Given the description of an element on the screen output the (x, y) to click on. 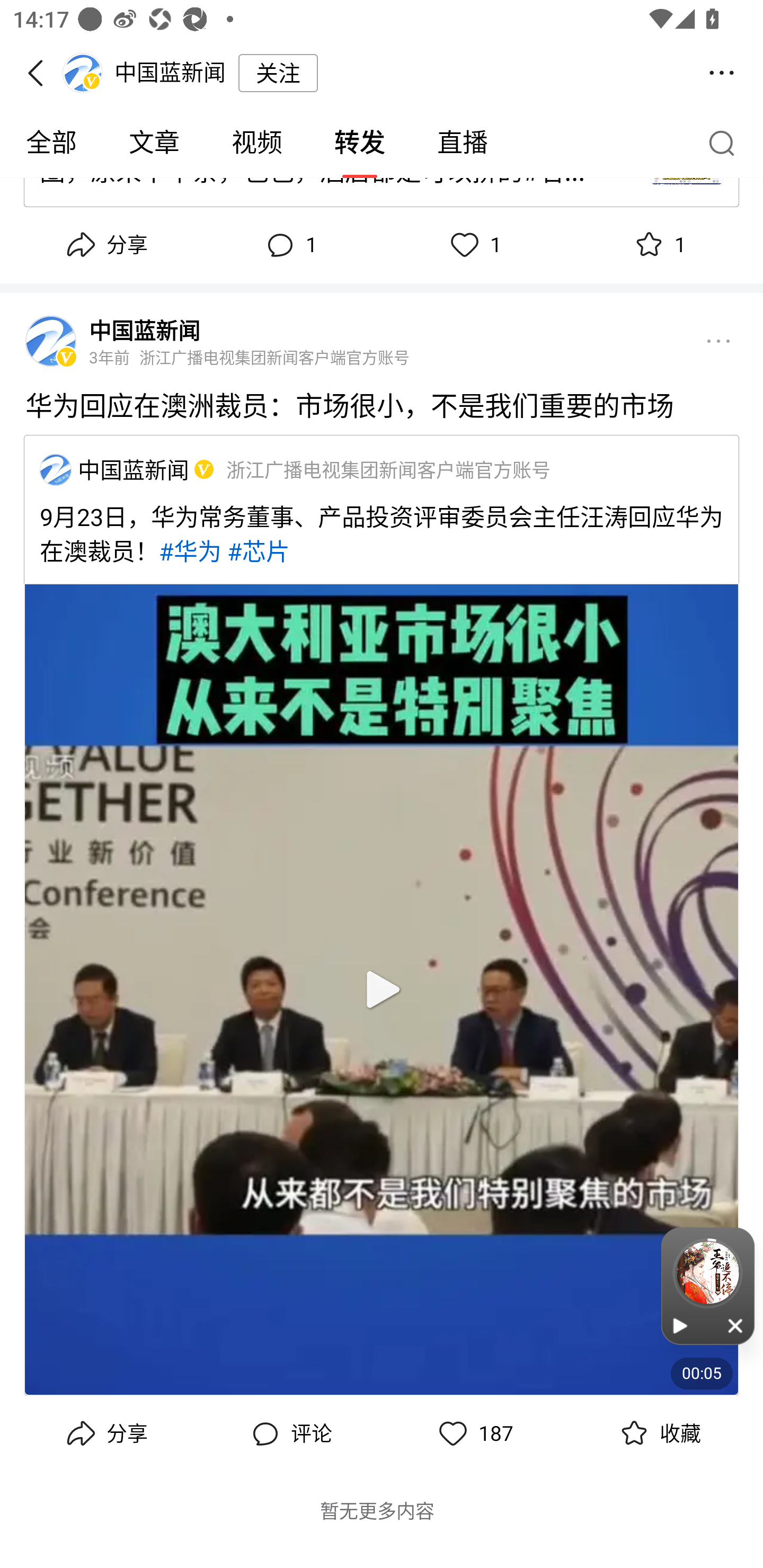
返回 (41, 72)
更多操作 (721, 72)
关注 (278, 72)
全部 (51, 143)
文章 (154, 143)
视频 (256, 143)
转发 (359, 143)
直播 (462, 143)
搜索 (726, 142)
分享 (104, 244)
评论,1 1 (288, 244)
收藏,1 1 (658, 244)
头像 中国蓝新闻 3年前 浙江广播电视集团新闻客户端官方账号 更多 (381, 335)
中国蓝新闻 (144, 329)
头像 (50, 340)
更多 (718, 340)
中国蓝新闻 (55, 470)
中国蓝新闻 (133, 469)
 [1] (201, 469)
浙江广播电视集团新闻客户端官方账号 (388, 469)
播放 关闭 (708, 1286)
播放 (680, 1325)
关闭 (736, 1325)
分享 (104, 1433)
评论, 评论 (288, 1433)
,收藏 收藏 (658, 1433)
暂无更多内容 (376, 1510)
